Given the description of an element on the screen output the (x, y) to click on. 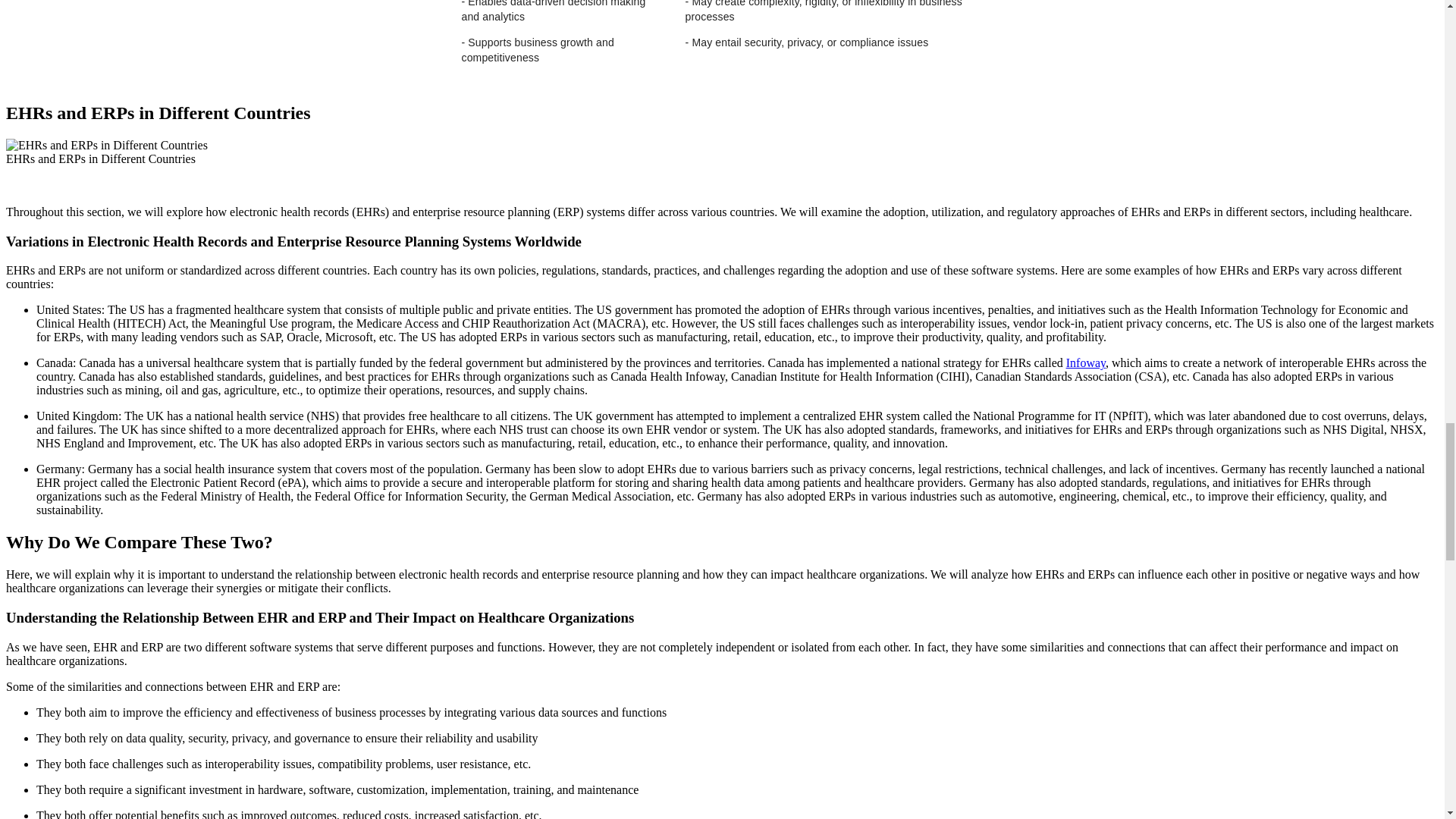
Infoway (1085, 362)
